Given the description of an element on the screen output the (x, y) to click on. 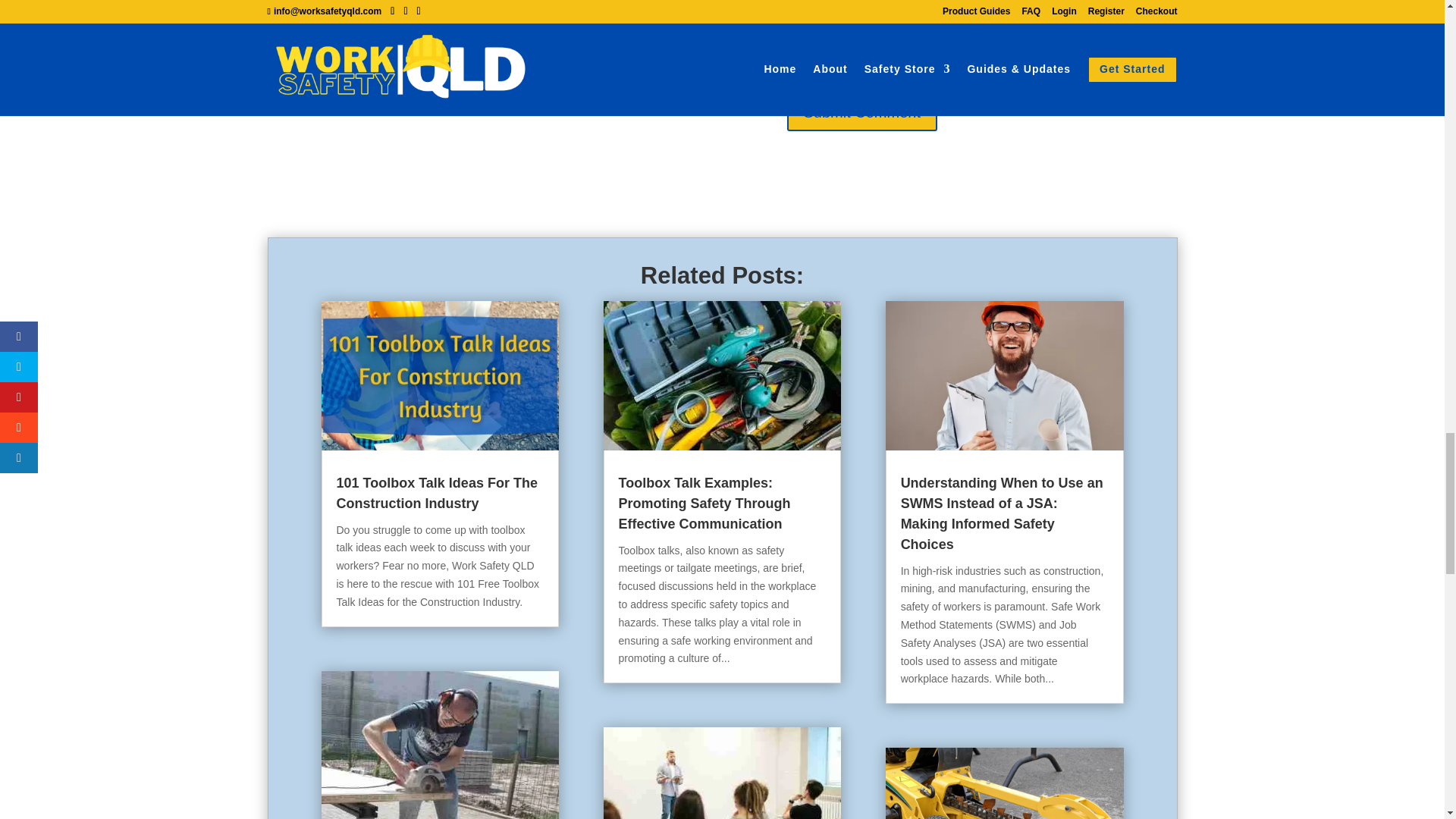
yes (274, 71)
